Given the description of an element on the screen output the (x, y) to click on. 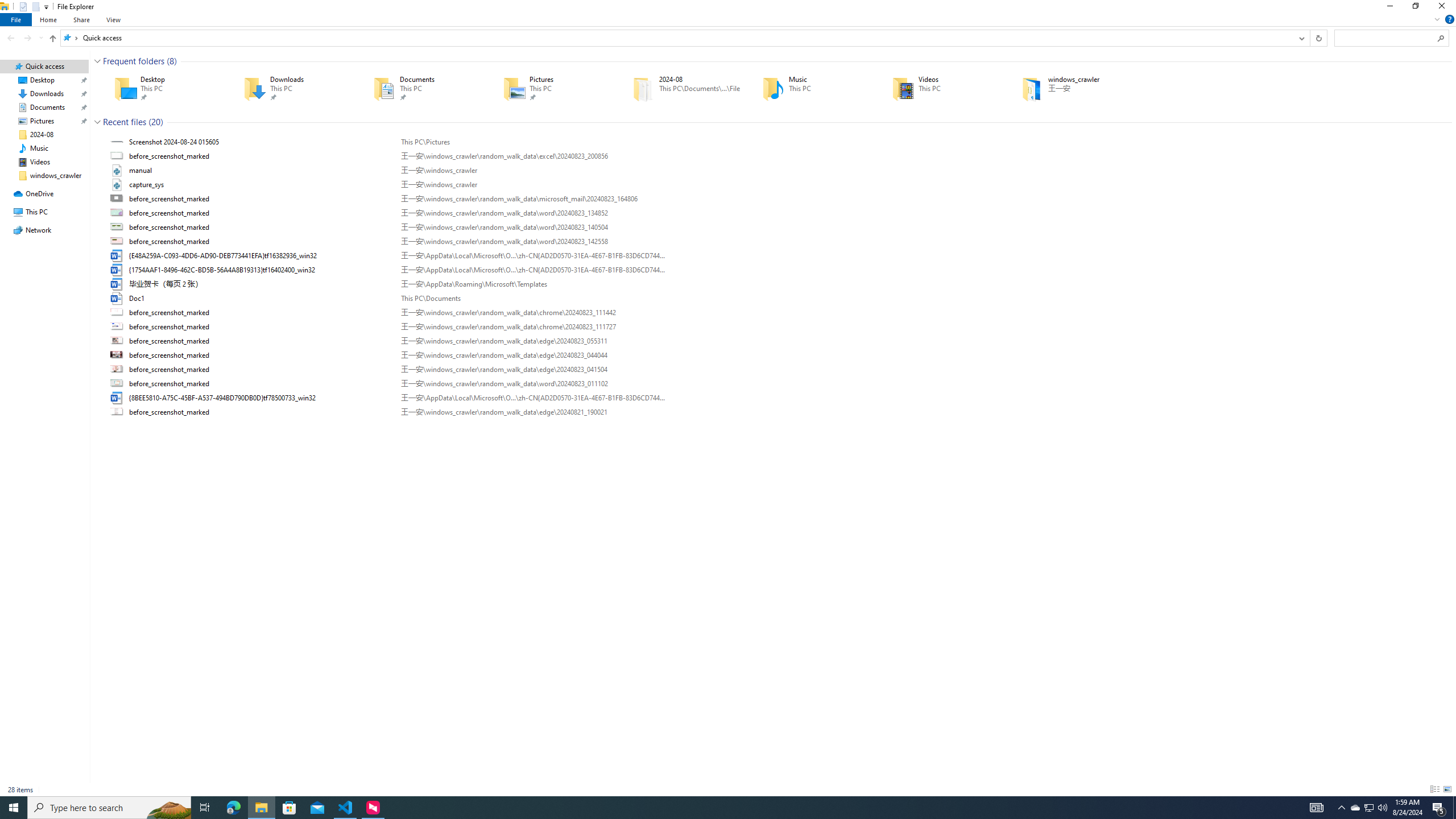
System (6, 6)
Path (532, 411)
2024-08 (681, 88)
File tab (16, 19)
Forward (Alt + Right Arrow) (27, 37)
Collapse Group (97, 121)
Doc1 (777, 298)
Share (81, 19)
Documents (422, 88)
All locations (70, 37)
manual (777, 169)
Class: UIImage (117, 411)
Customize Quick Access Toolbar (45, 6)
Refresh "Quick access" (F5) (1318, 37)
